Given the description of an element on the screen output the (x, y) to click on. 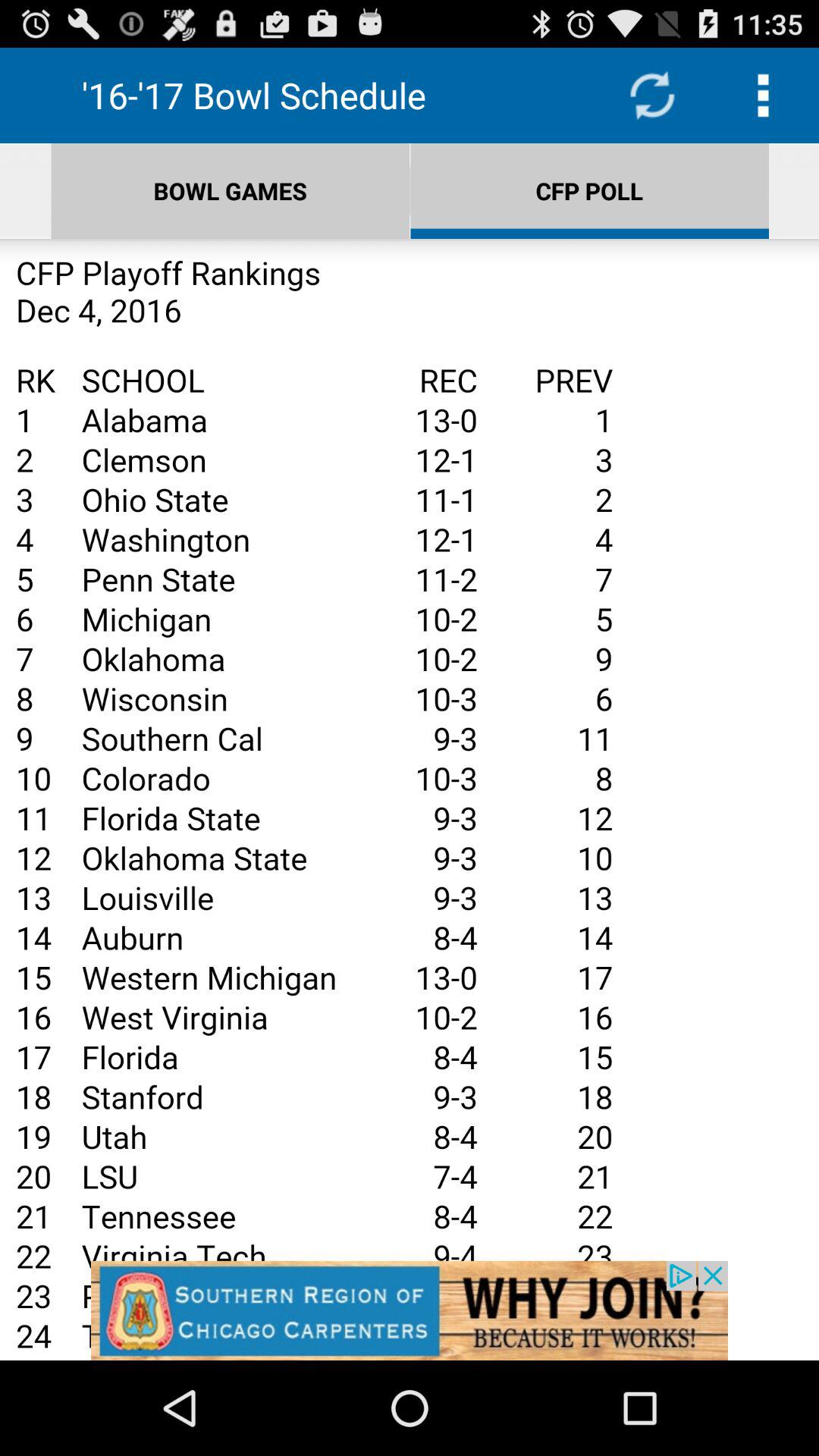
files (409, 799)
